Given the description of an element on the screen output the (x, y) to click on. 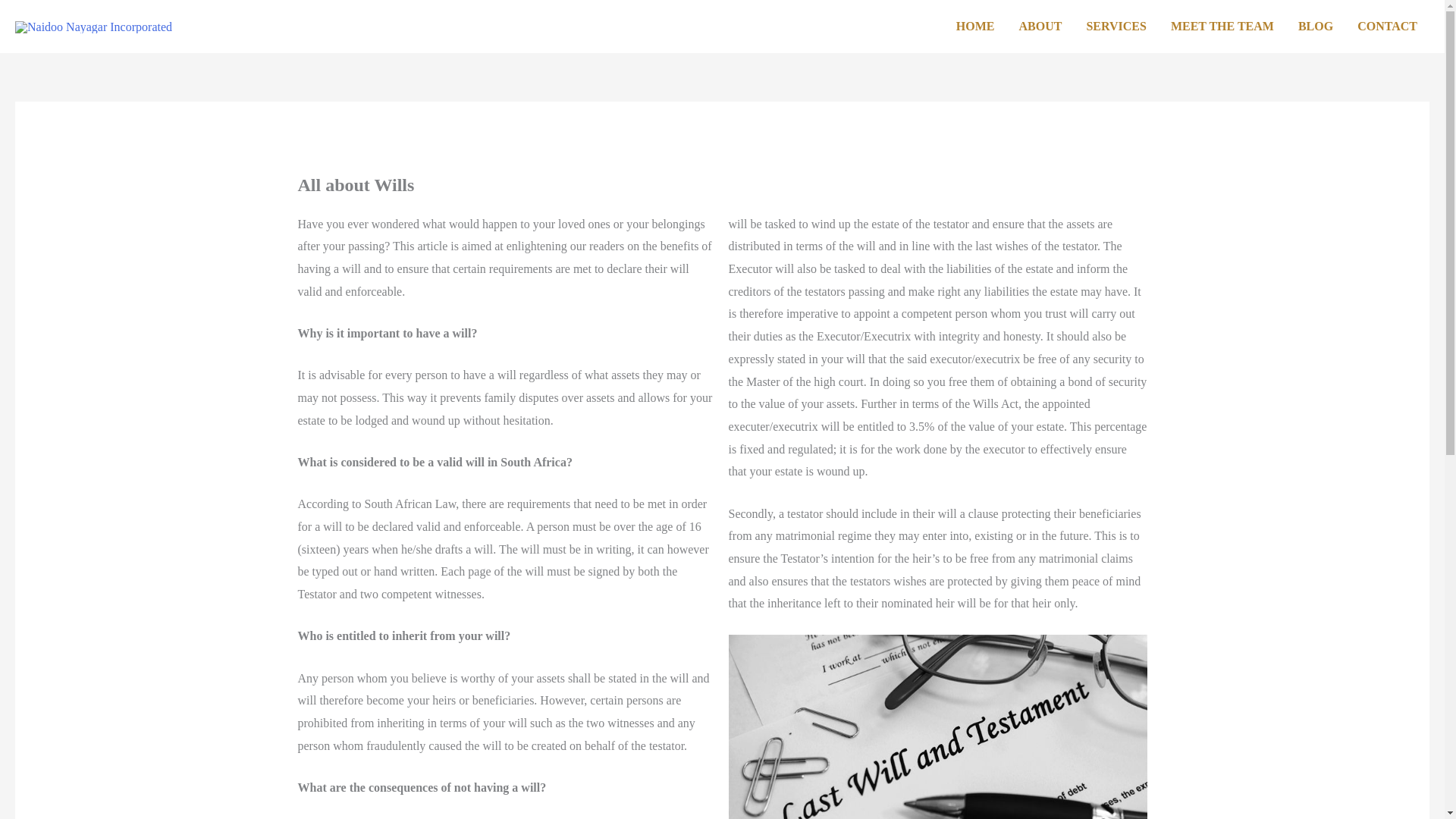
SERVICES (1115, 26)
HOME (975, 26)
CONTACT (1387, 26)
BLOG (1315, 26)
ABOUT (1040, 26)
MEET THE TEAM (1221, 26)
